Given the description of an element on the screen output the (x, y) to click on. 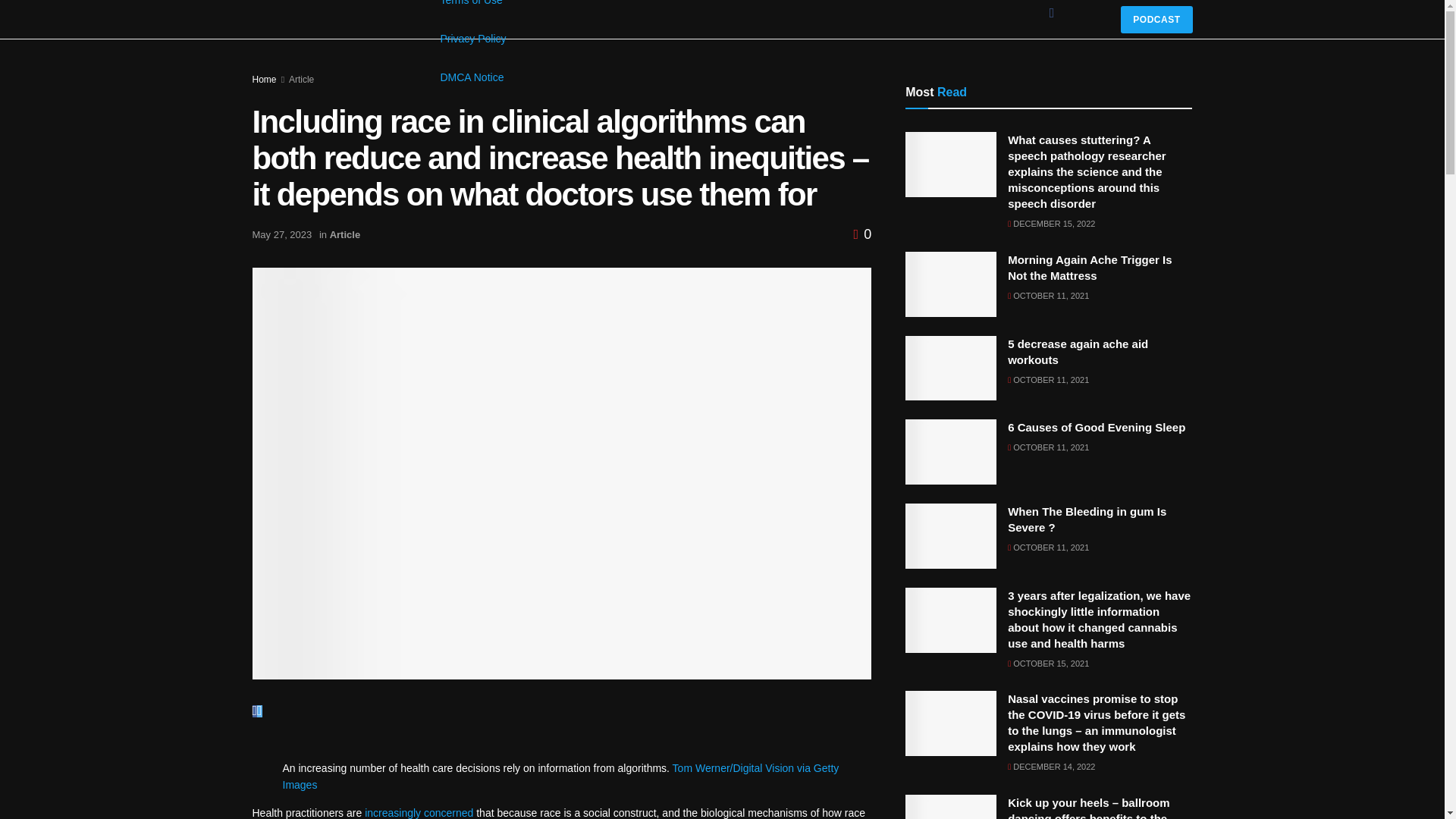
May 27, 2023 (281, 234)
Home (263, 79)
DMCA Notice (474, 76)
0 (862, 233)
Privacy Policy (474, 38)
increasingly concerned (419, 812)
Article (344, 234)
PODCAST (1156, 19)
Article (301, 79)
Terms of Use (474, 9)
